Given the description of an element on the screen output the (x, y) to click on. 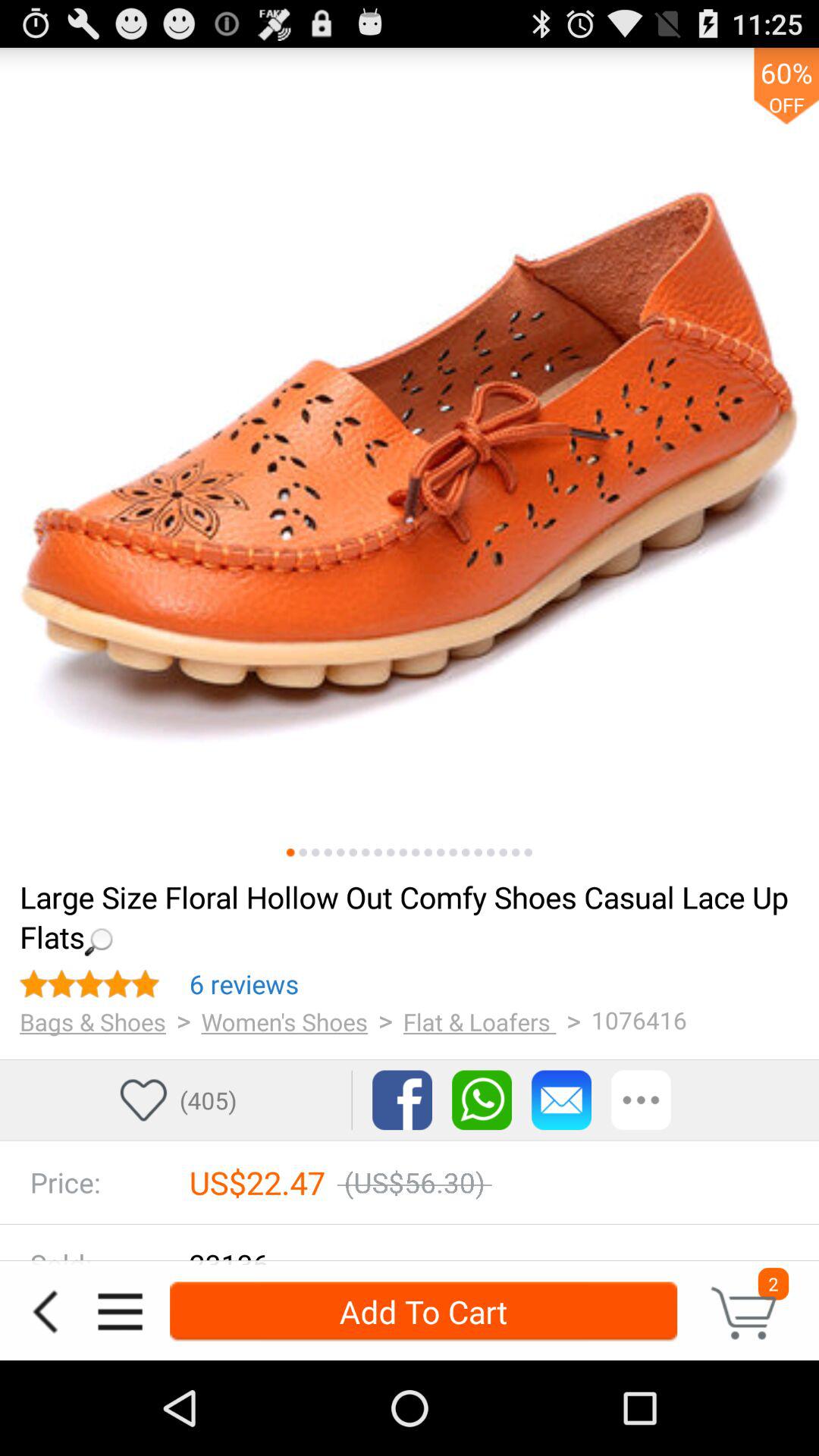
share via email (561, 1100)
